Given the description of an element on the screen output the (x, y) to click on. 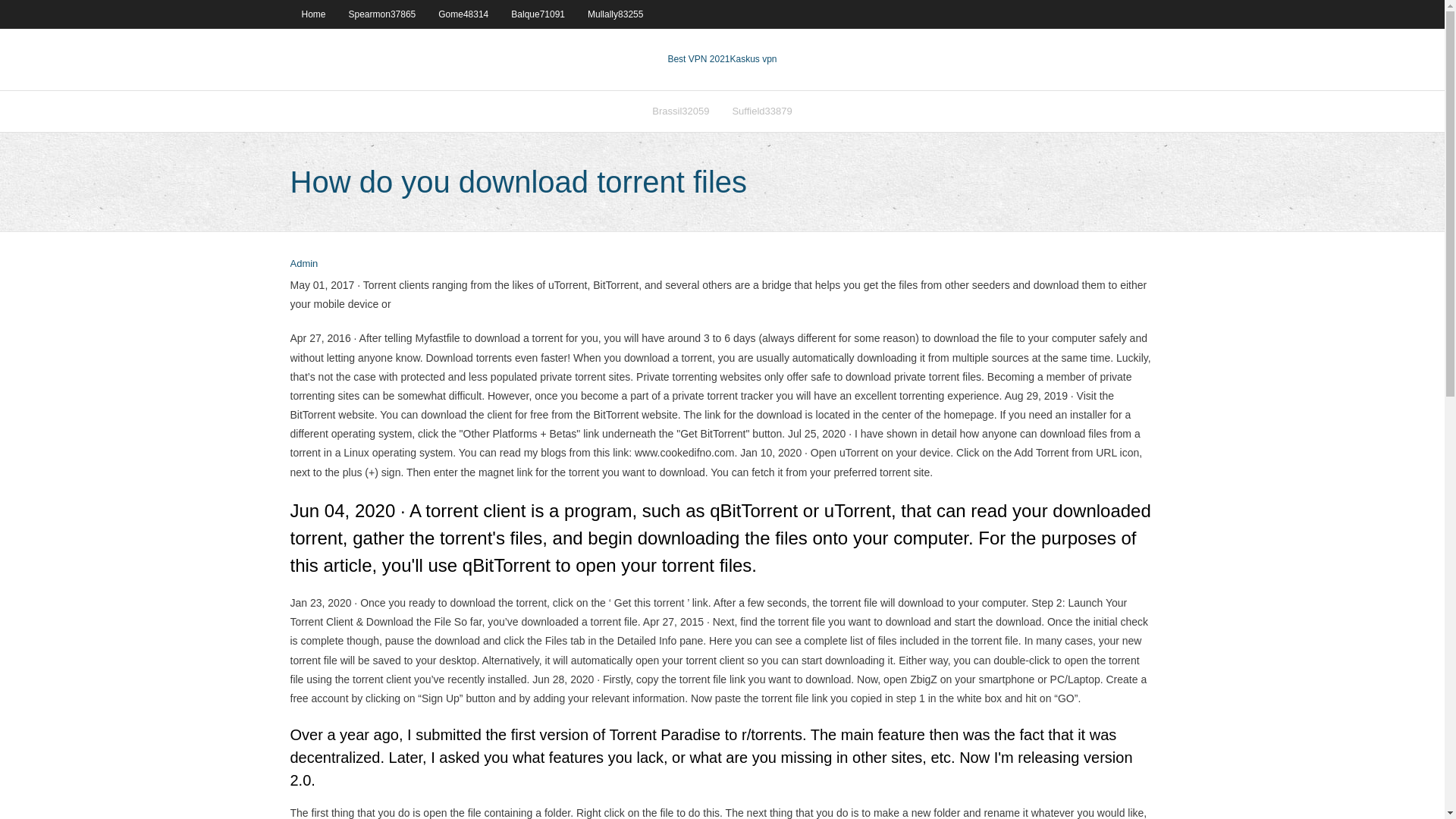
Best VPN 2021Kaskus vpn (721, 59)
Home (312, 14)
Admin (303, 263)
VPN 2021 (752, 59)
Suffield33879 (761, 110)
Best VPN 2021 (697, 59)
View all posts by Editor (303, 263)
Brassil32059 (680, 110)
Spearmon37865 (382, 14)
Gome48314 (462, 14)
